Given the description of an element on the screen output the (x, y) to click on. 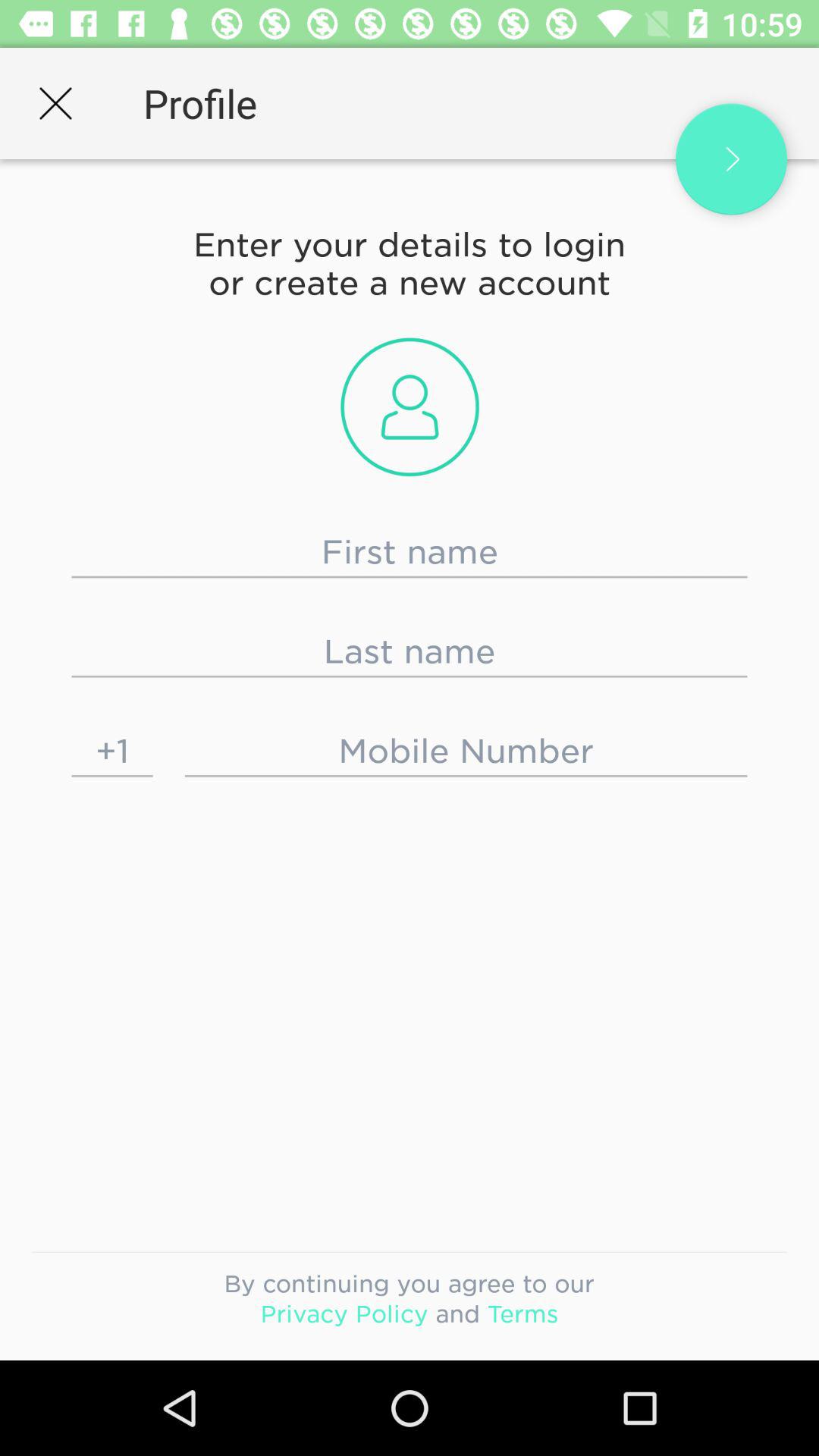
search button (731, 158)
